Given the description of an element on the screen output the (x, y) to click on. 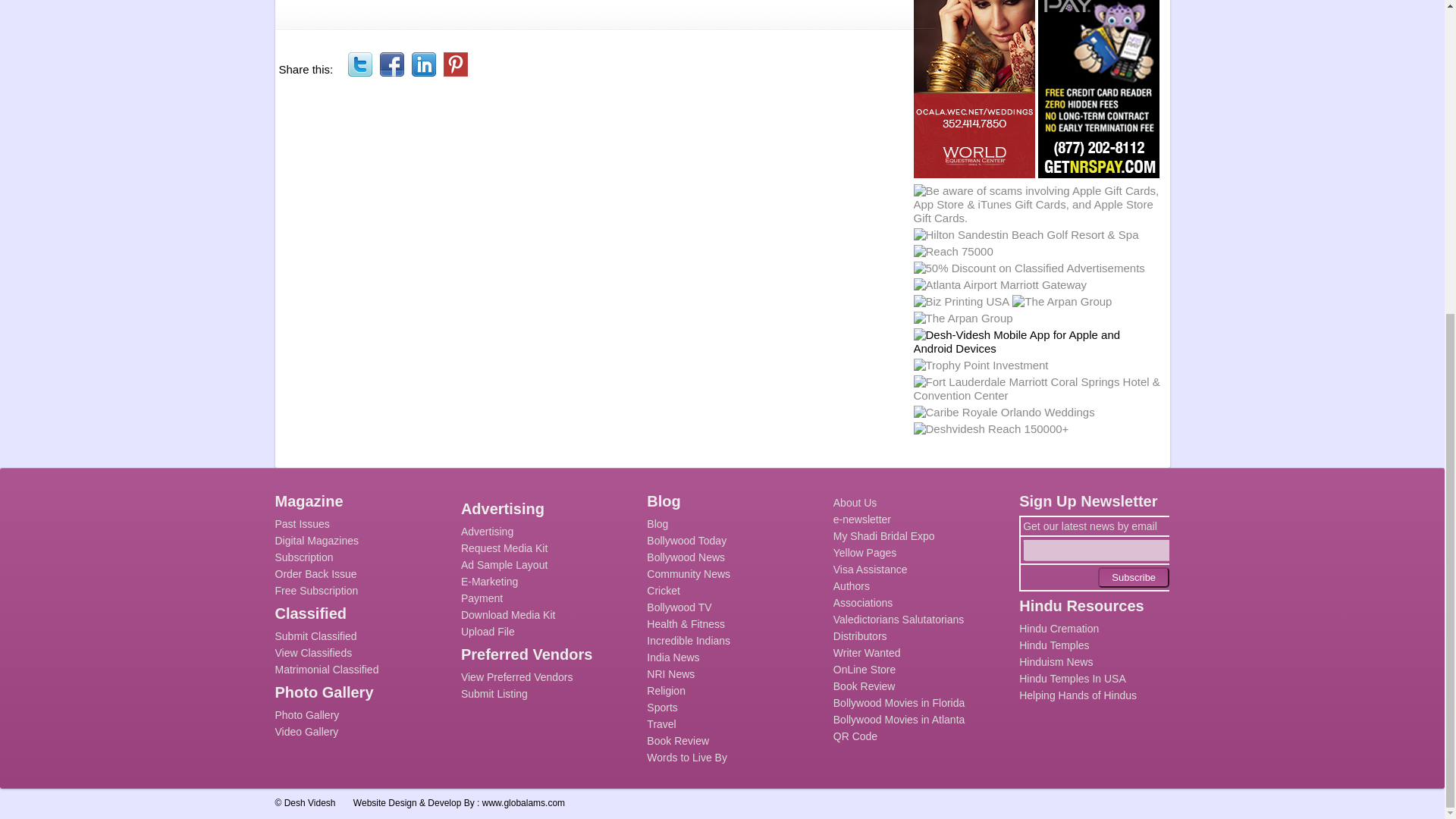
Facebook (392, 64)
Twitter (359, 64)
LinkedIn (423, 64)
Pinterest (455, 64)
Subscribe (1133, 577)
